Given the description of an element on the screen output the (x, y) to click on. 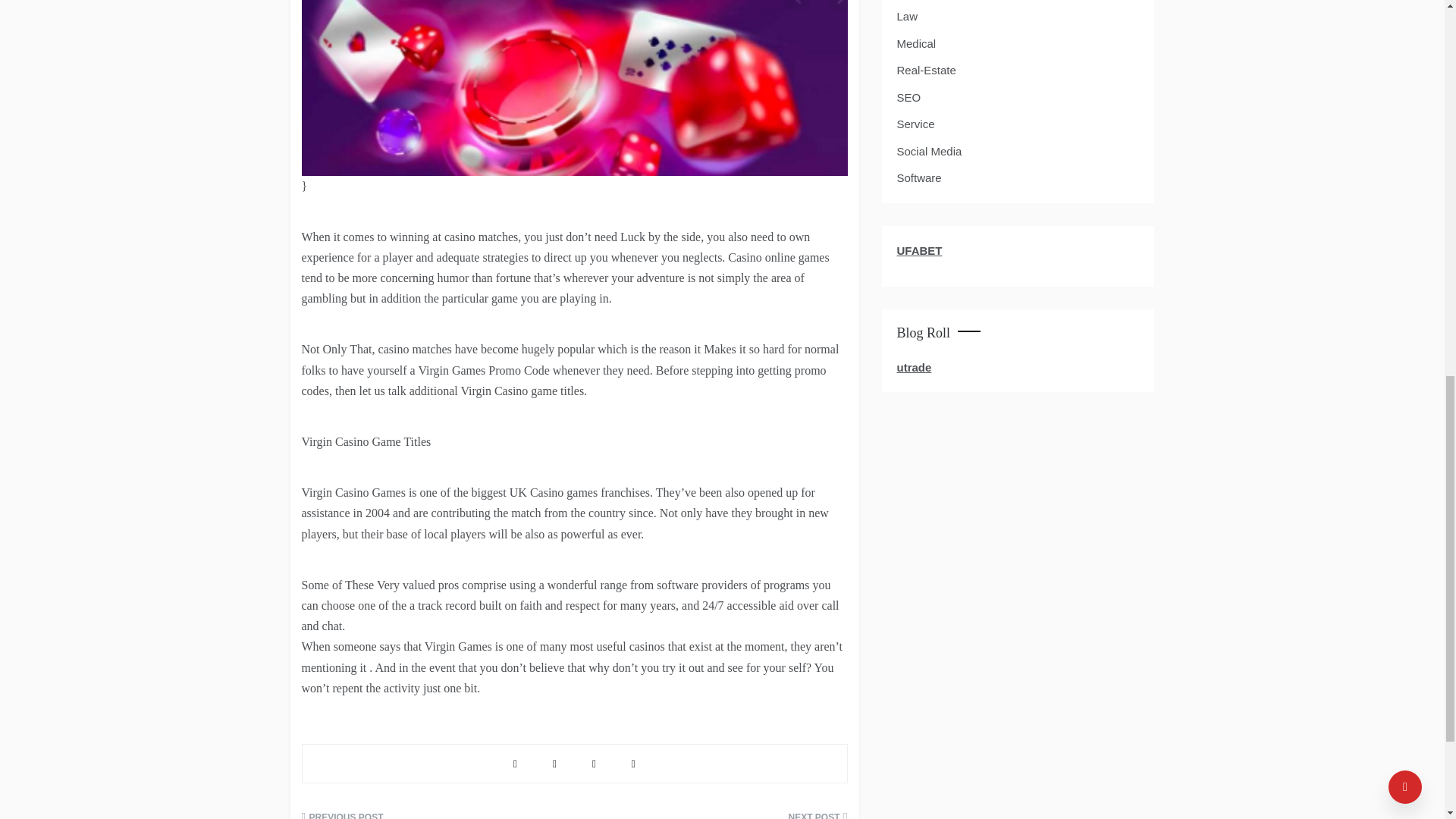
Social Media (928, 151)
SEO (908, 97)
What Are Essential Characteristics Of The Shaft Surface? (432, 814)
Service (915, 124)
Real-Estate (925, 70)
Law (906, 16)
The Ultimate Sense Of Gifting; Mymallgift (716, 814)
Medical (916, 44)
